Given the description of an element on the screen output the (x, y) to click on. 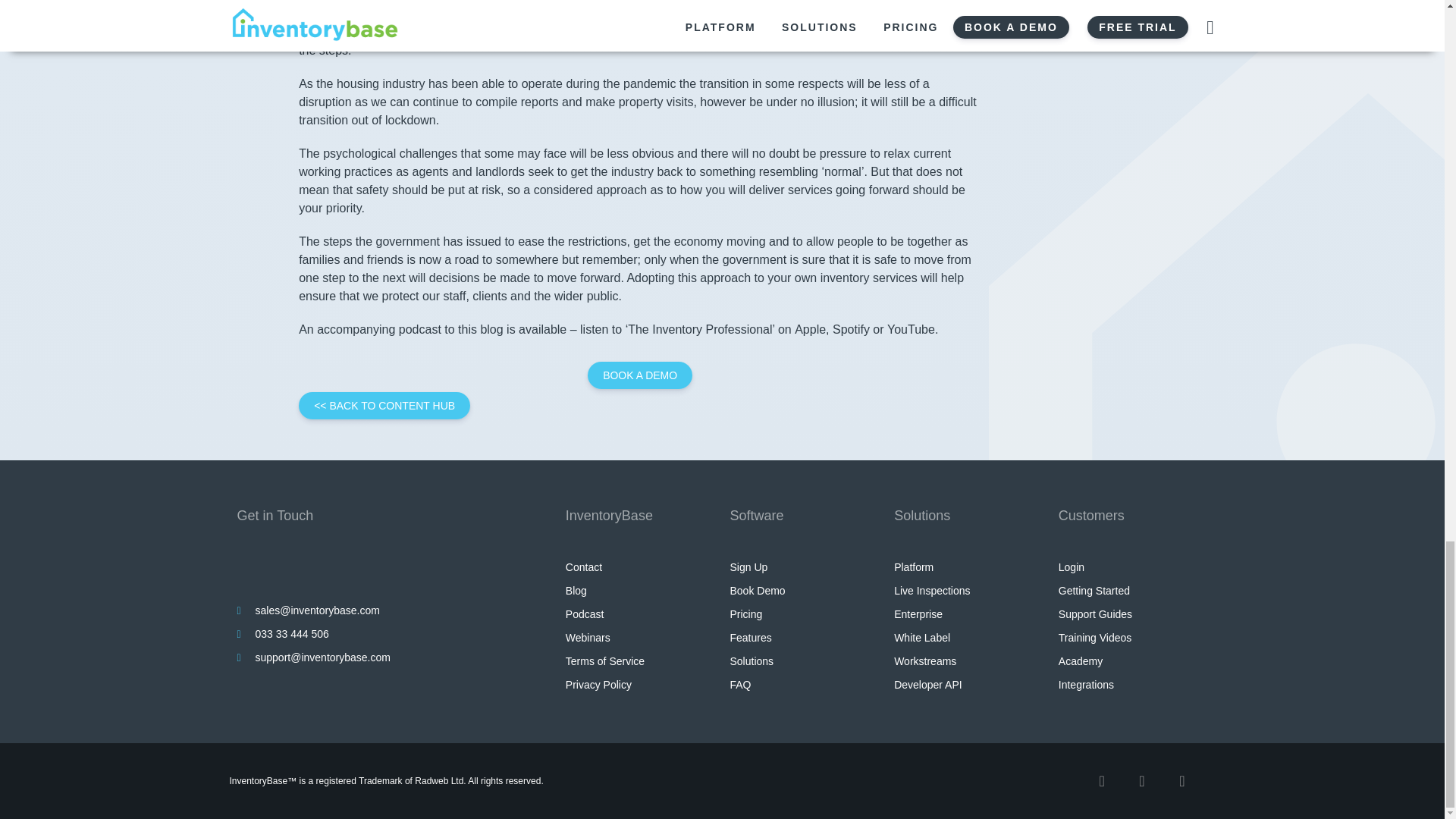
033 33 444 506 (291, 633)
BOOK A DEMO (640, 375)
Spotify (850, 328)
Apple (809, 328)
YouTube (910, 328)
